Given the description of an element on the screen output the (x, y) to click on. 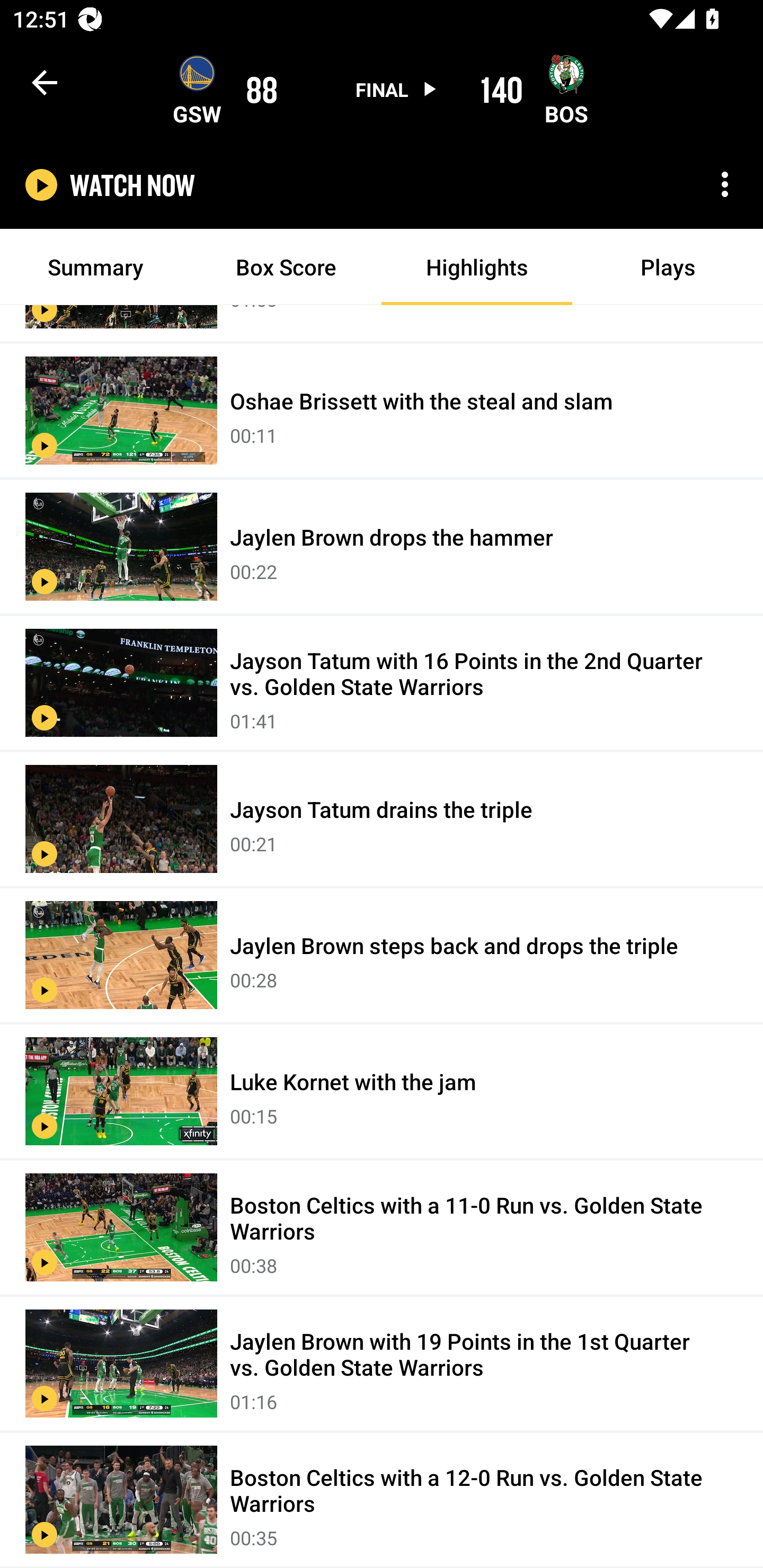
Navigate up (44, 82)
More options (724, 183)
WATCH NOW (132, 184)
Summary (95, 266)
Box Score (285, 266)
Plays (667, 266)
Oshae Brissett with the steal and slam 00:11 (381, 410)
Jaylen Brown drops the hammer 00:22 (381, 546)
Jayson Tatum drains the triple 00:21 (381, 819)
Jaylen Brown steps back and drops the triple 00:28 (381, 956)
Luke Kornet with the jam 00:15 (381, 1091)
